Given the description of an element on the screen output the (x, y) to click on. 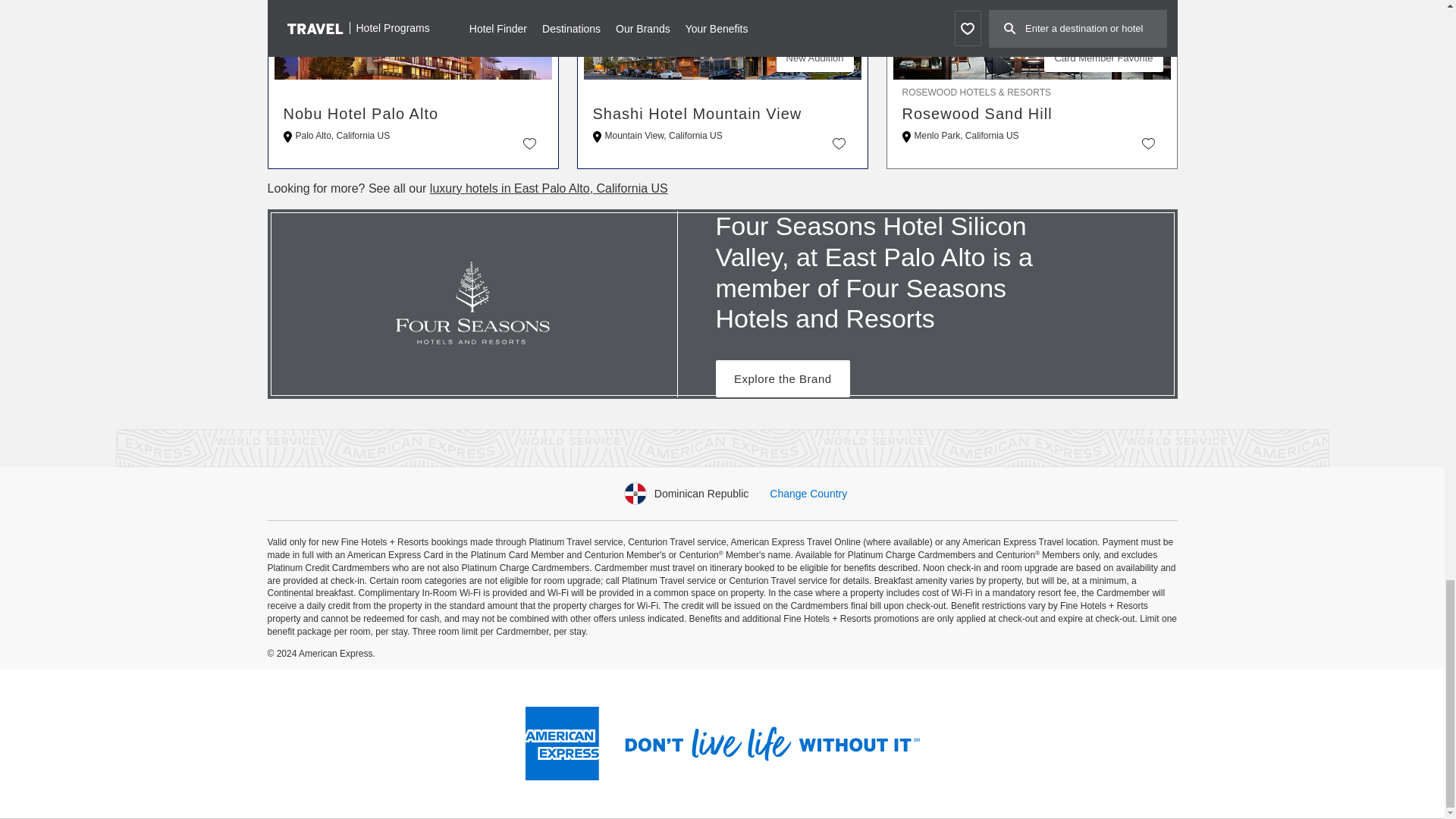
Explore the Brand (783, 378)
luxury hotels in East Palo Alto, California US (548, 187)
Change Country (808, 493)
Nobu Hotel Palo Alto (413, 113)
Rosewood Sand Hill (1031, 113)
Shashi Hotel Mountain View (721, 113)
